Given the description of an element on the screen output the (x, y) to click on. 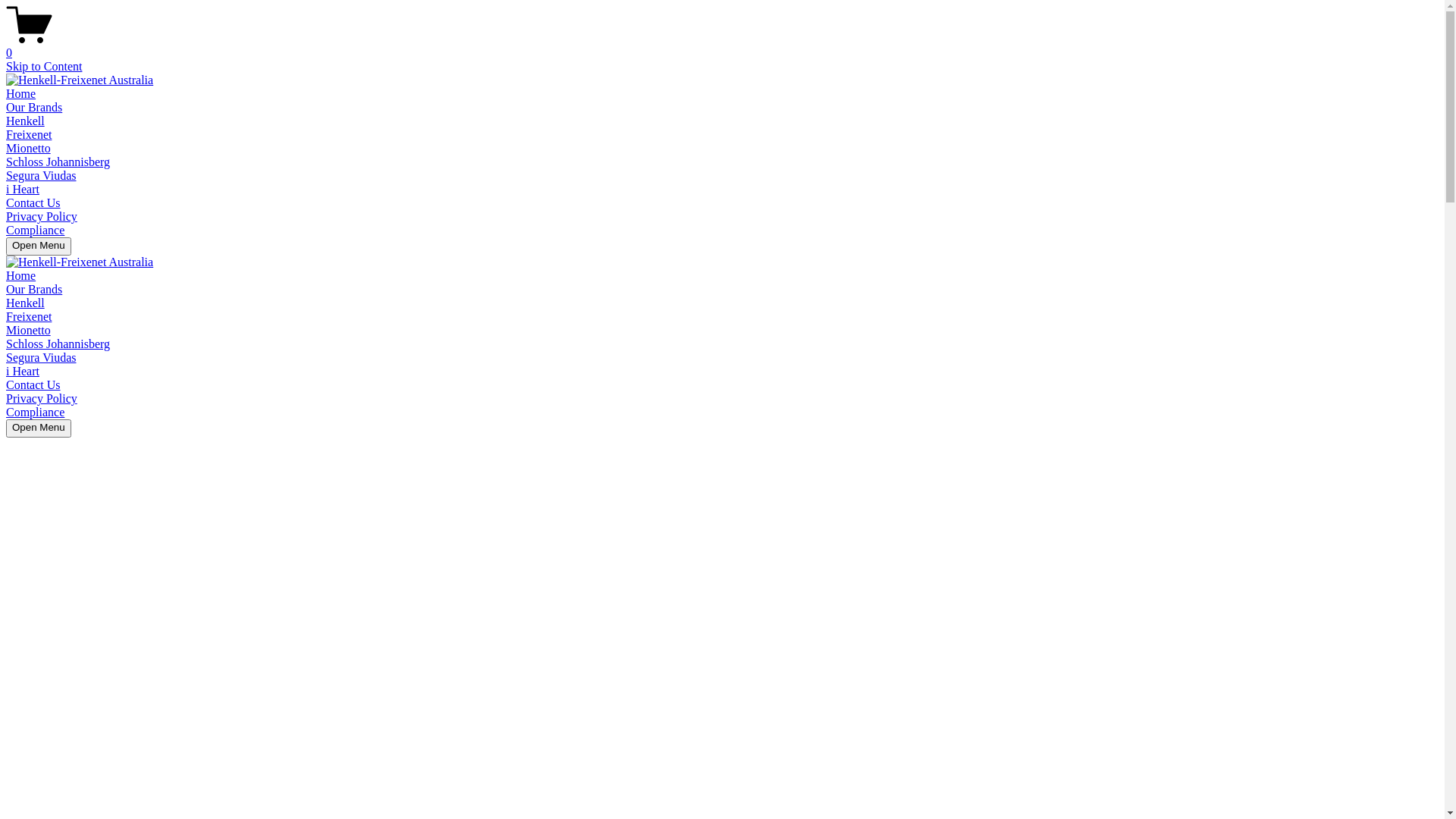
Privacy Policy Element type: text (41, 216)
Compliance Element type: text (35, 229)
Contact Us Element type: text (33, 202)
Our Brands Element type: text (34, 106)
Our Brands Element type: text (34, 288)
Henkell Element type: text (25, 120)
Schloss Johannisberg Element type: text (57, 343)
Segura Viudas Element type: text (41, 357)
Mionetto Element type: text (28, 329)
Mionetto Element type: text (28, 147)
Privacy Policy Element type: text (41, 398)
Freixenet Element type: text (28, 134)
i Heart Element type: text (22, 188)
i Heart Element type: text (22, 370)
Open Menu Element type: text (38, 246)
Freixenet Element type: text (28, 316)
Contact Us Element type: text (33, 384)
0 Element type: text (722, 45)
Home Element type: text (20, 93)
Segura Viudas Element type: text (41, 175)
Home Element type: text (20, 275)
Henkell Element type: text (25, 302)
Open Menu Element type: text (38, 428)
Compliance Element type: text (35, 411)
Skip to Content Element type: text (43, 65)
Schloss Johannisberg Element type: text (57, 161)
